Given the description of an element on the screen output the (x, y) to click on. 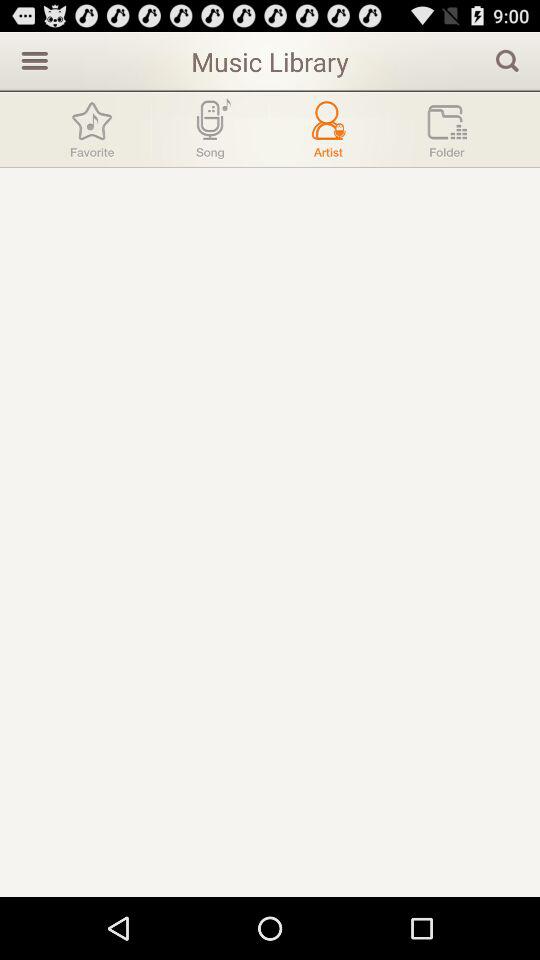
settings (32, 60)
